Given the description of an element on the screen output the (x, y) to click on. 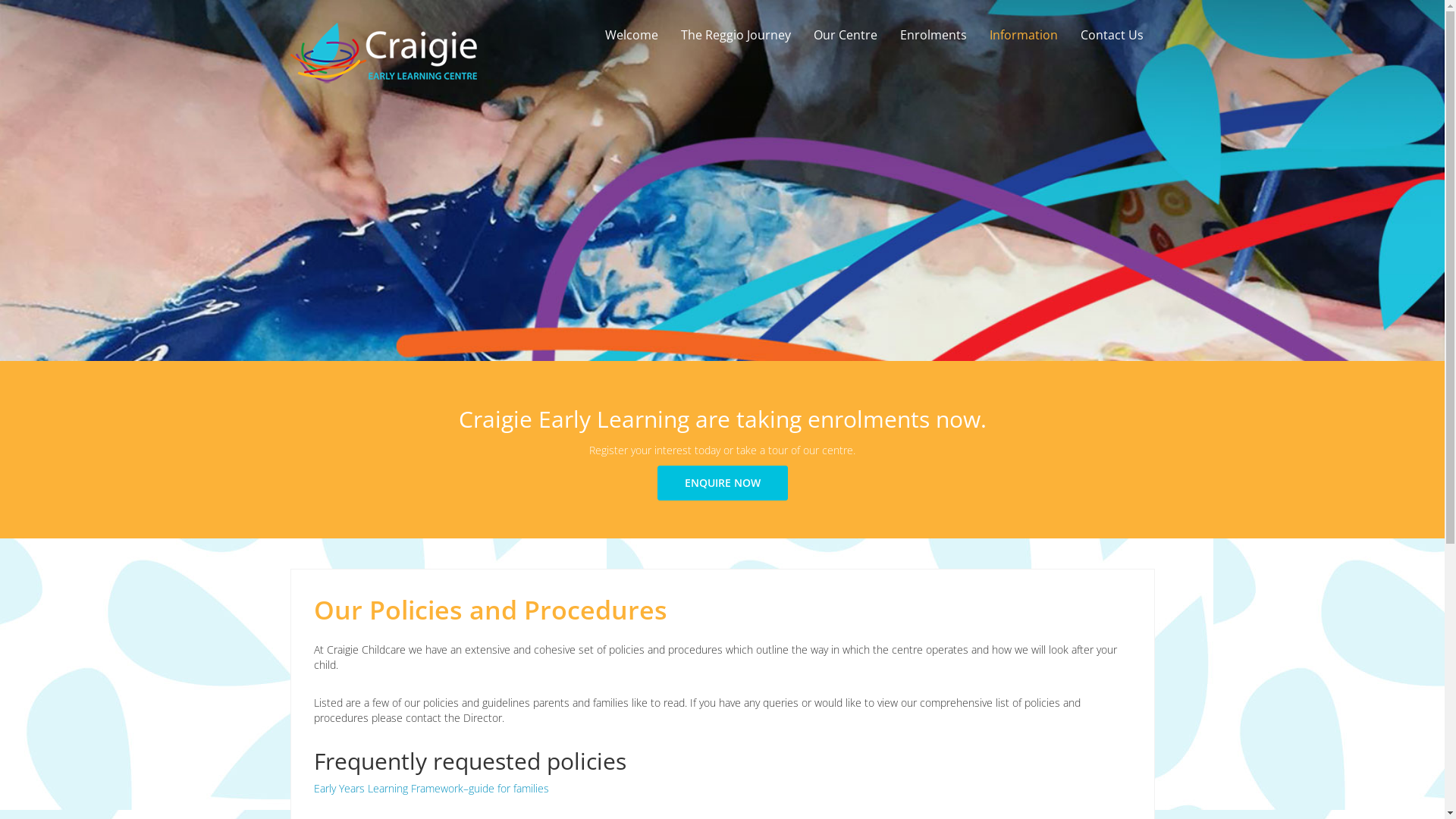
Enrolments Element type: text (933, 34)
Contact Us Element type: text (1111, 34)
ENQUIRE NOW Element type: text (721, 482)
Information Element type: text (1023, 34)
Our Centre Element type: text (845, 34)
The Reggio Journey Element type: text (734, 34)
Welcome Element type: text (630, 34)
